Given the description of an element on the screen output the (x, y) to click on. 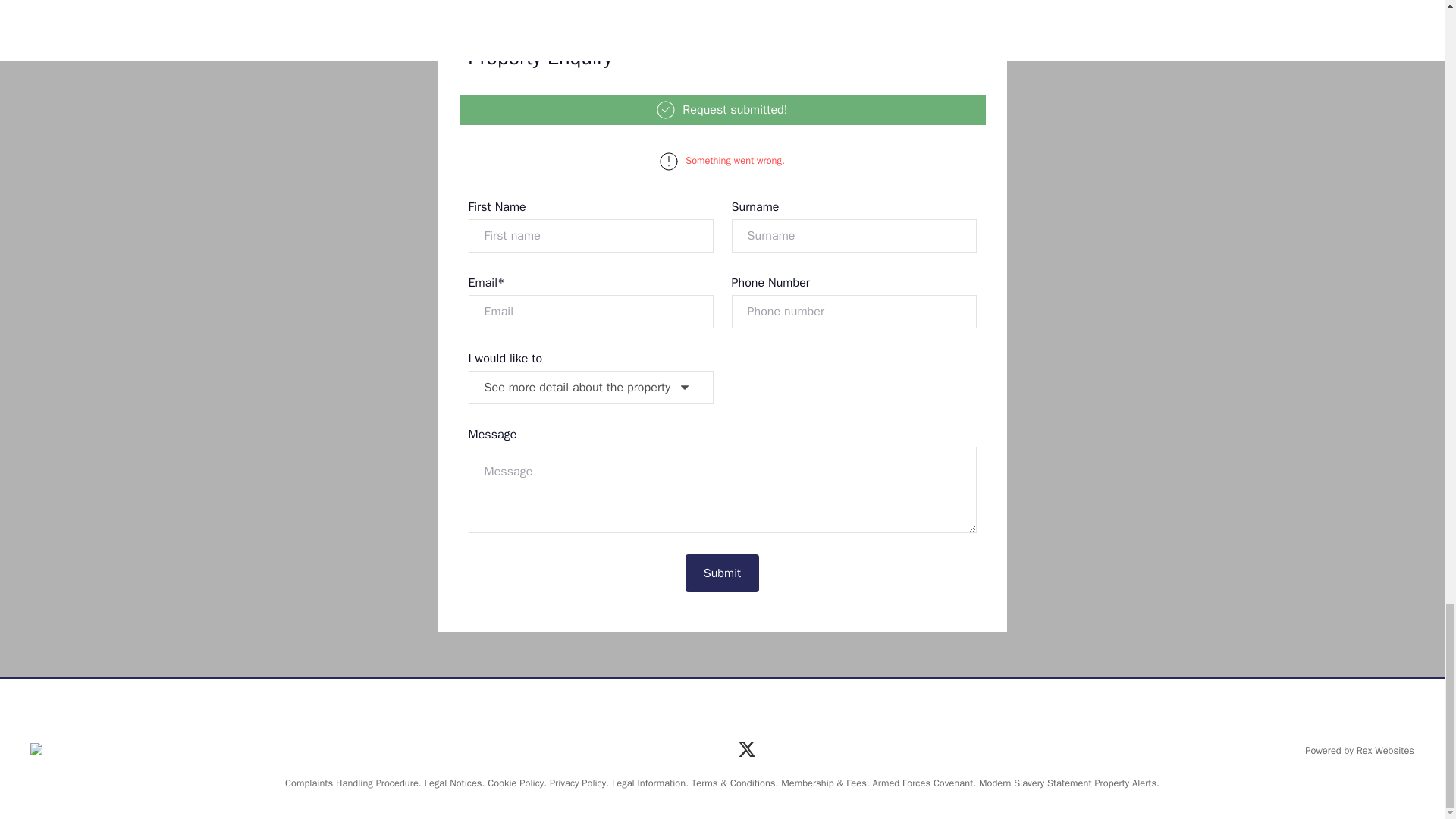
Submit (722, 573)
